Given the description of an element on the screen output the (x, y) to click on. 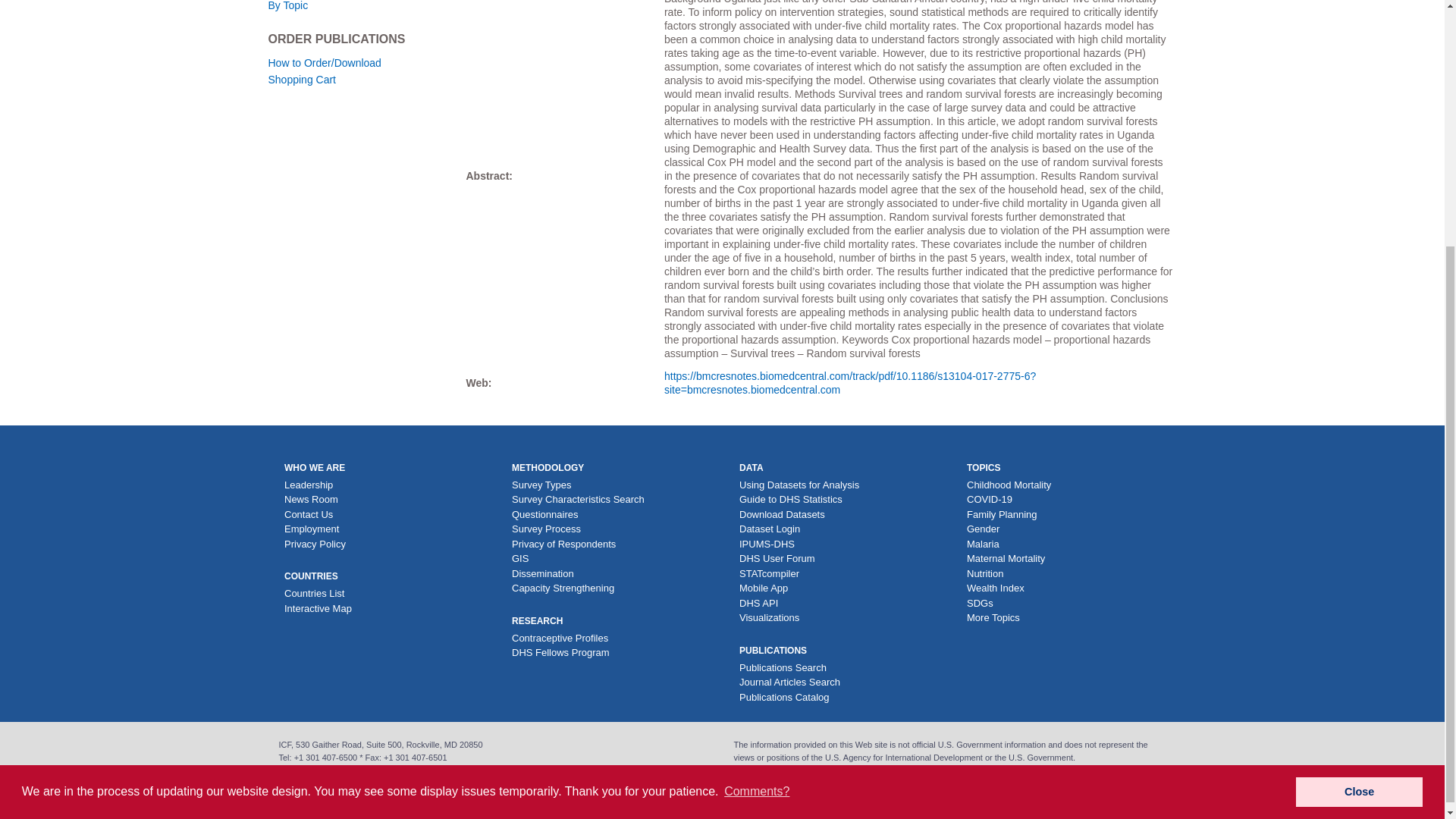
Comments? (757, 445)
Learn more (491, 445)
Got it! (1358, 444)
